Given the description of an element on the screen output the (x, y) to click on. 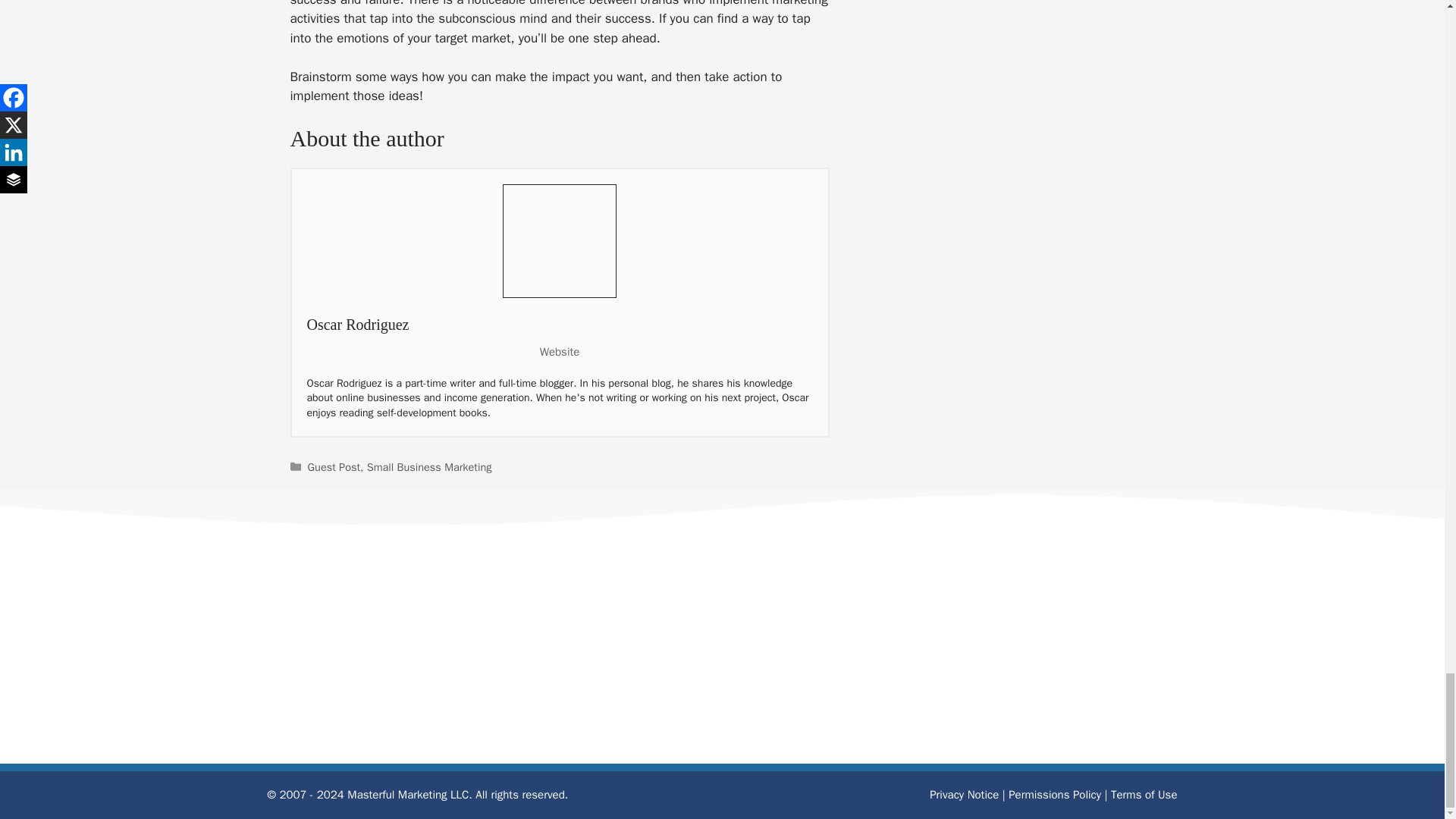
Featured on Upcity (449, 649)
DesignRush-top-web-design (812, 649)
DesignRush Top Digital Marketing Companies (630, 649)
